Given the description of an element on the screen output the (x, y) to click on. 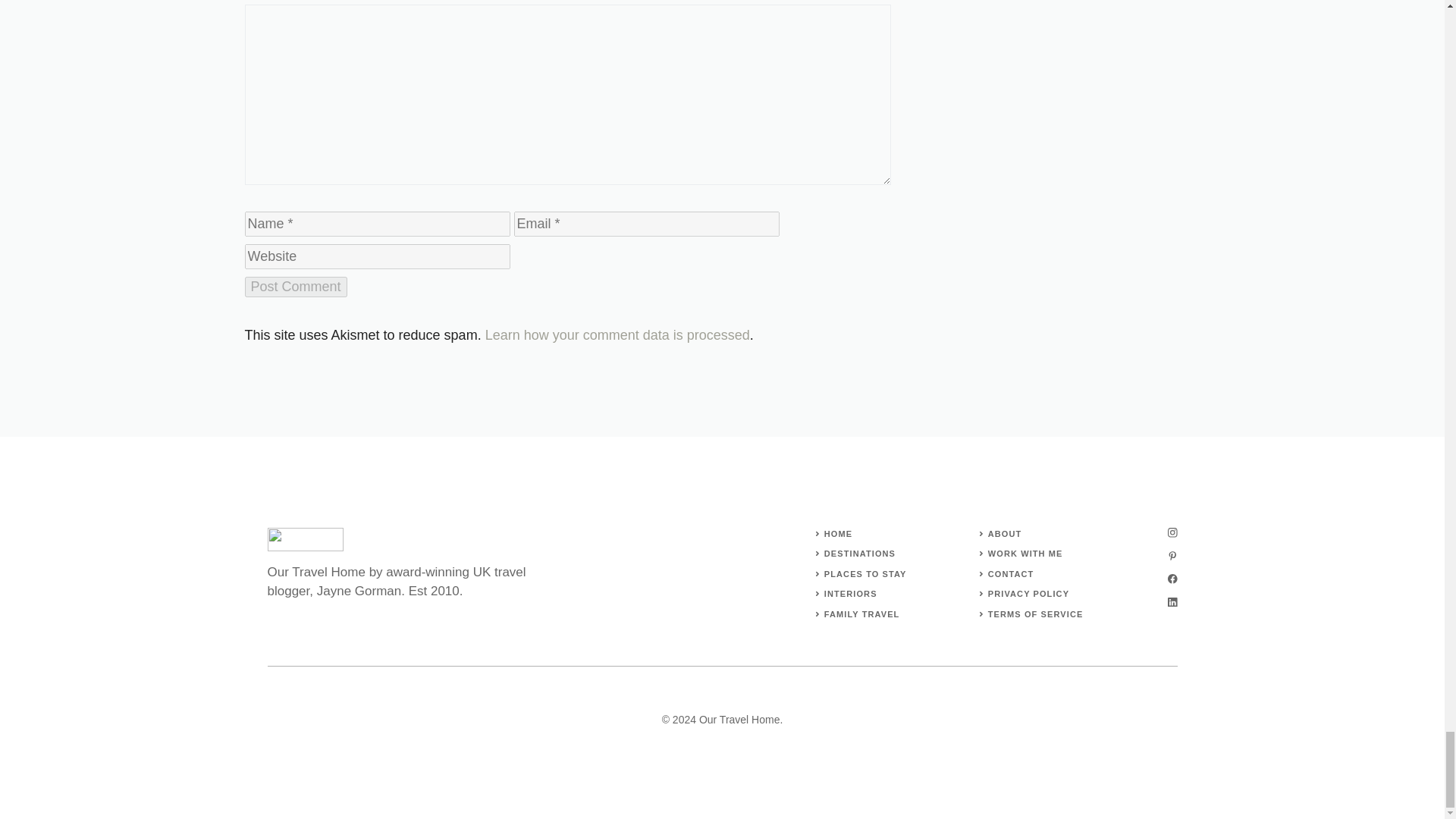
our travel home logo (304, 539)
Post Comment (295, 286)
